Given the description of an element on the screen output the (x, y) to click on. 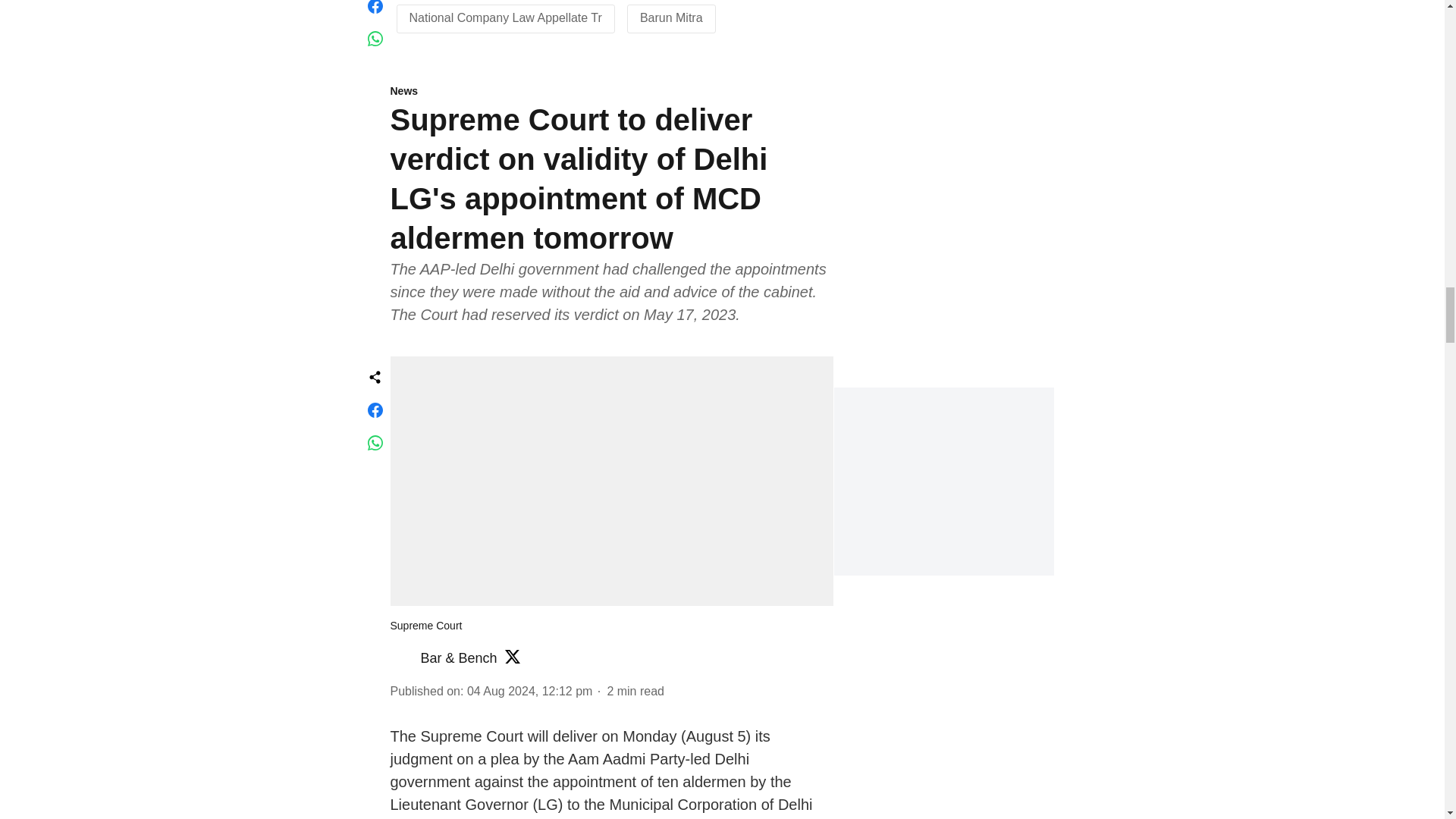
2024-08-04 04:12 (529, 689)
